Given the description of an element on the screen output the (x, y) to click on. 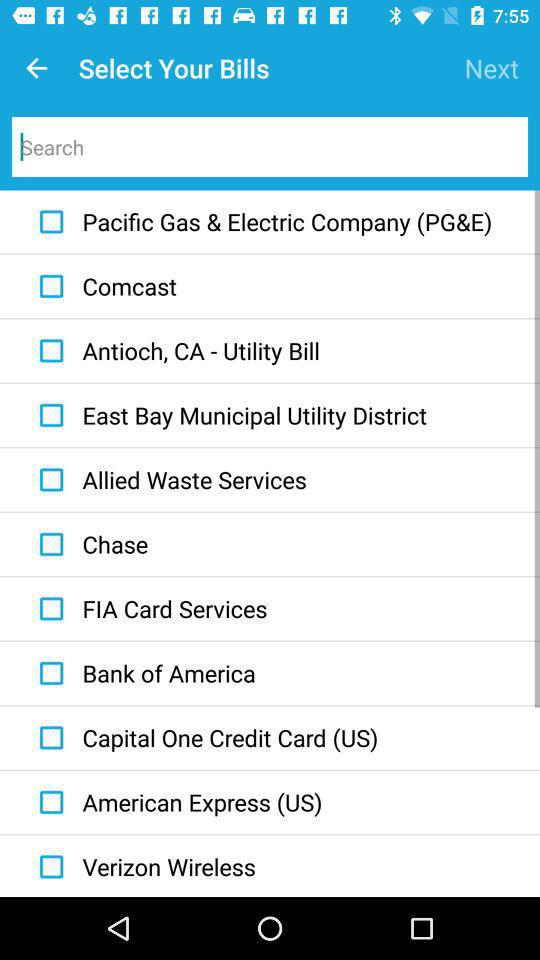
launch the item at the center (228, 415)
